Given the description of an element on the screen output the (x, y) to click on. 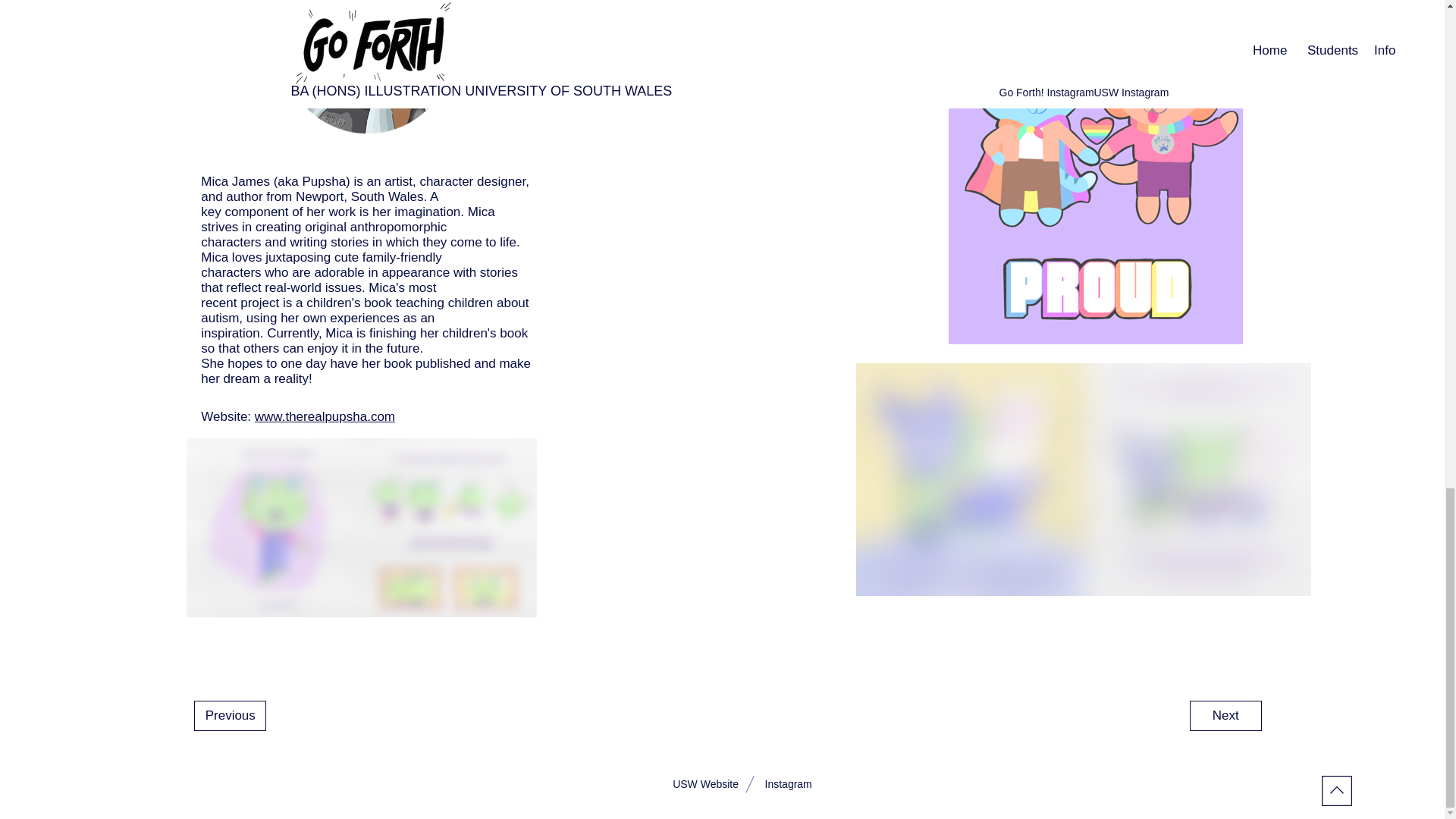
Previous (229, 716)
www.therealpupsha.com (324, 416)
Website: (227, 416)
Instagram (787, 784)
Next (1225, 716)
USW Website (705, 784)
